Given the description of an element on the screen output the (x, y) to click on. 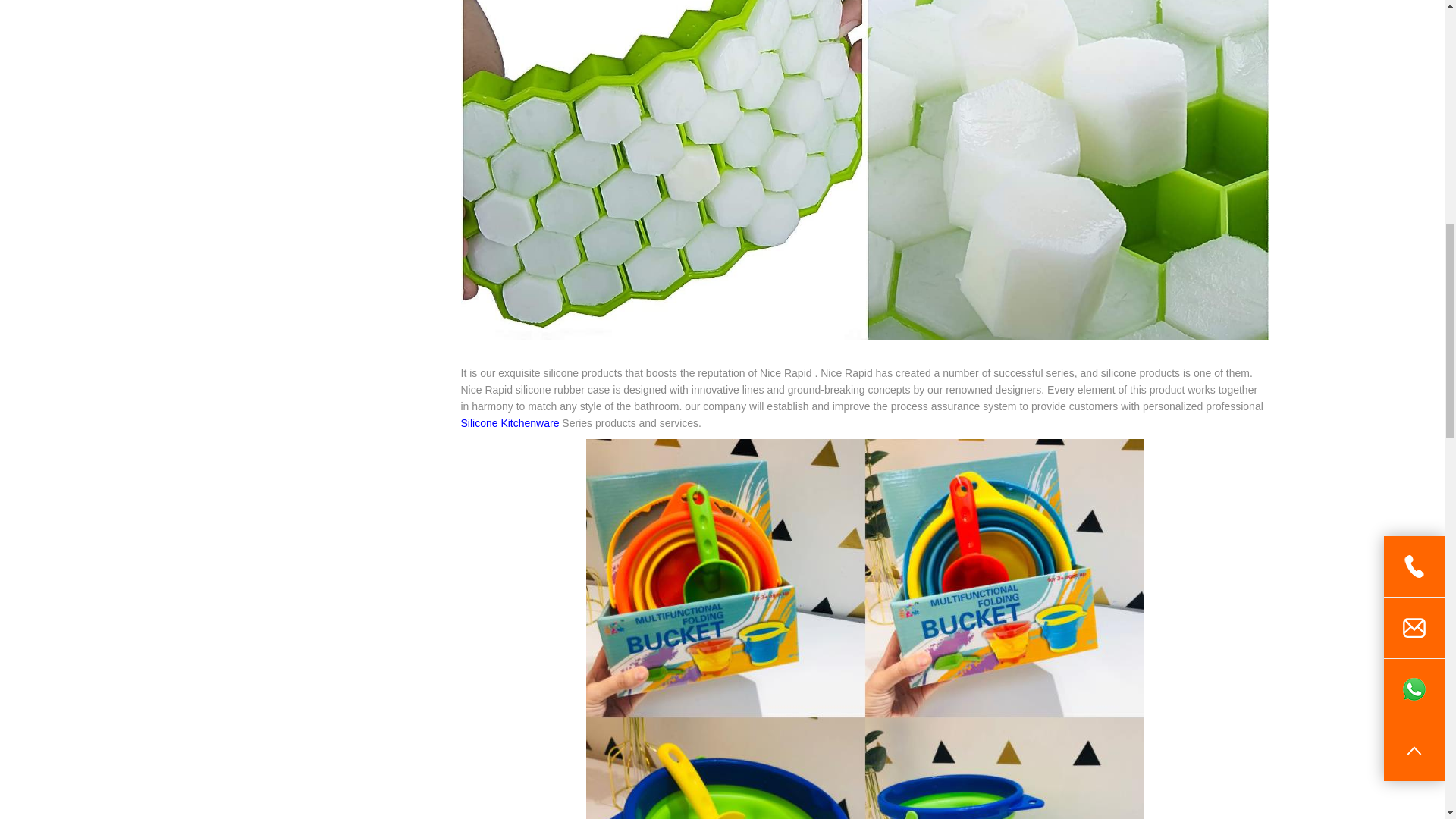
Silicone Kitchenware (510, 422)
